Given the description of an element on the screen output the (x, y) to click on. 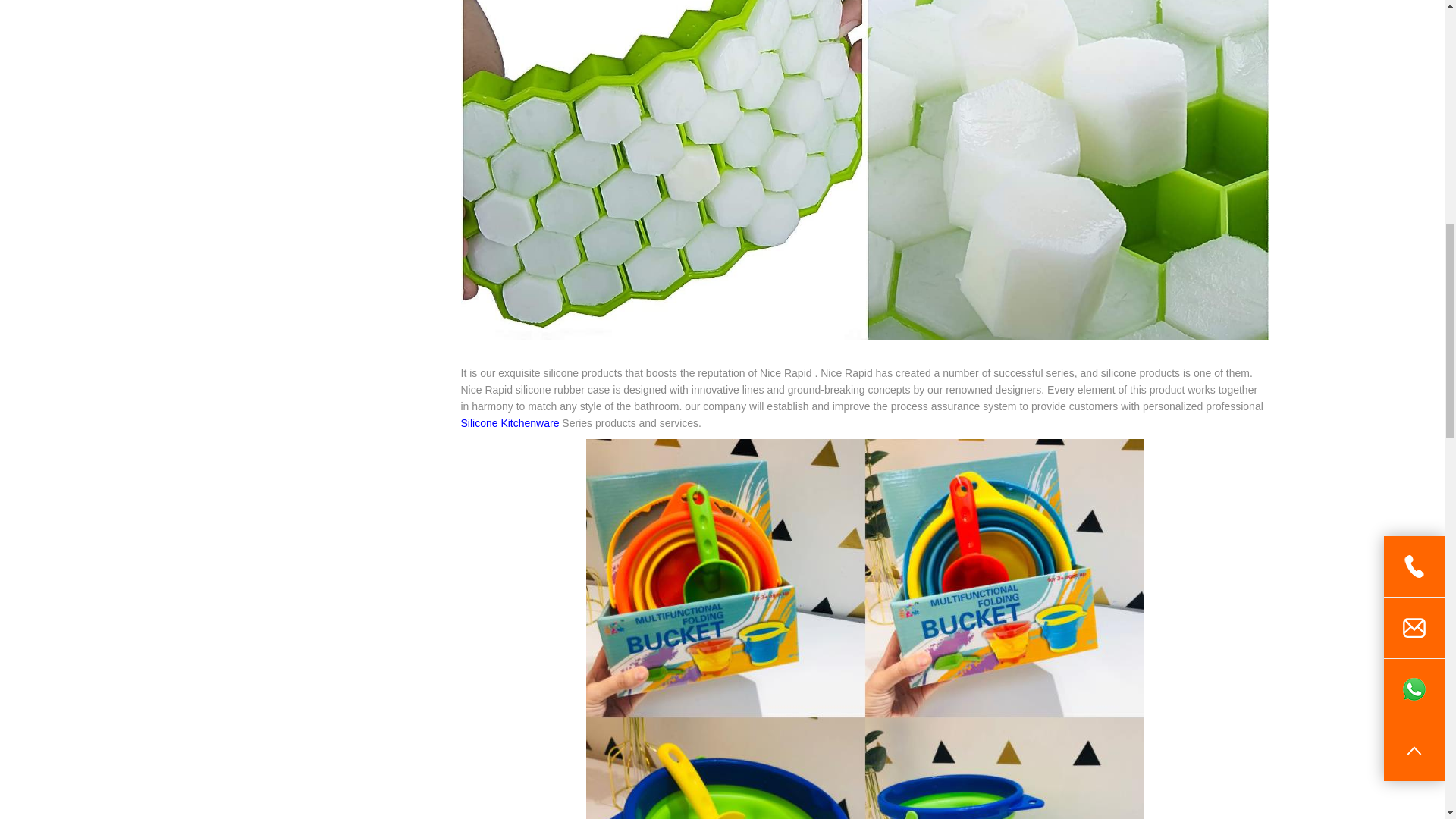
Silicone Kitchenware (510, 422)
